Given the description of an element on the screen output the (x, y) to click on. 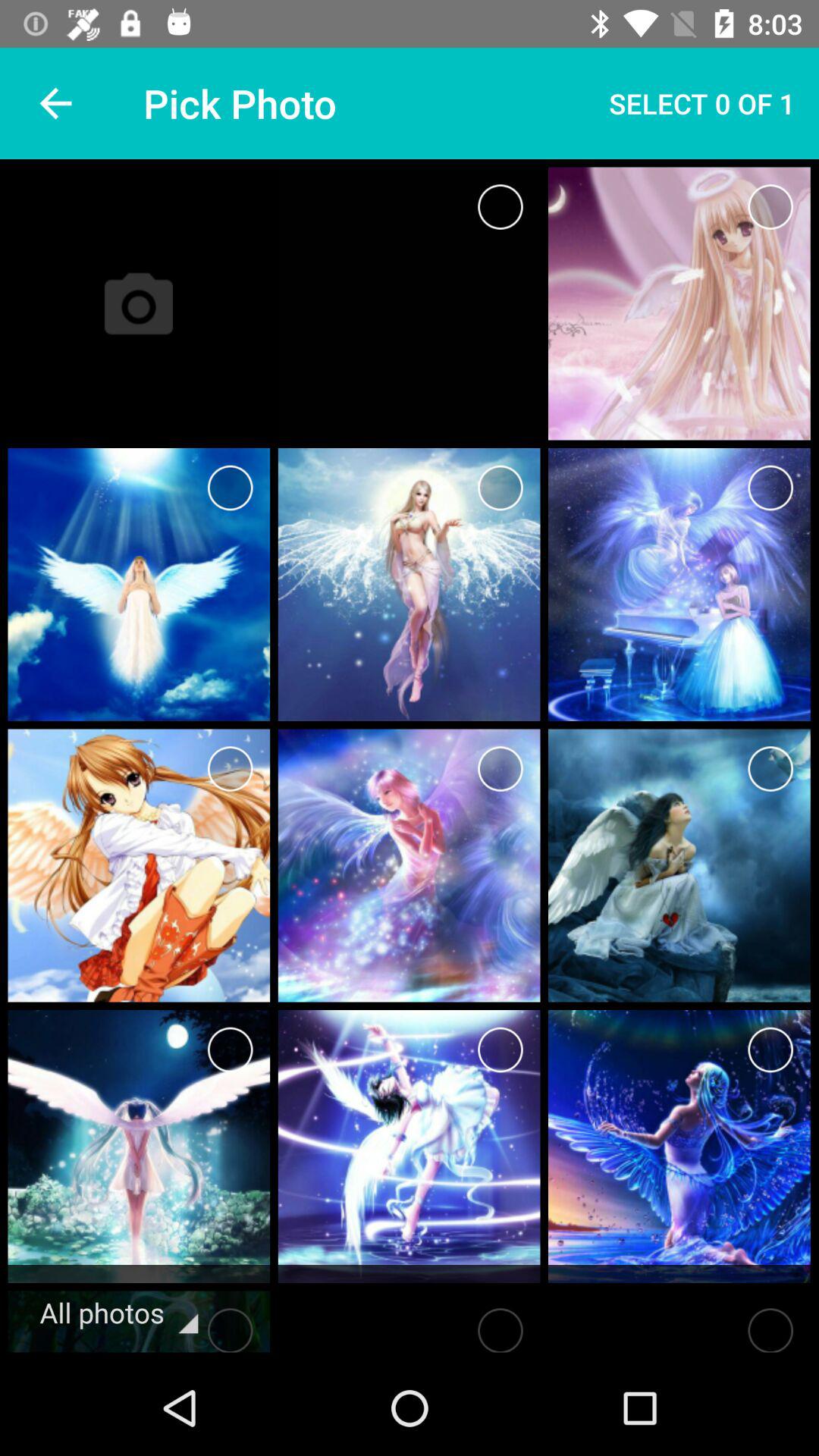
tap item to the left of pick photo item (55, 103)
